Given the description of an element on the screen output the (x, y) to click on. 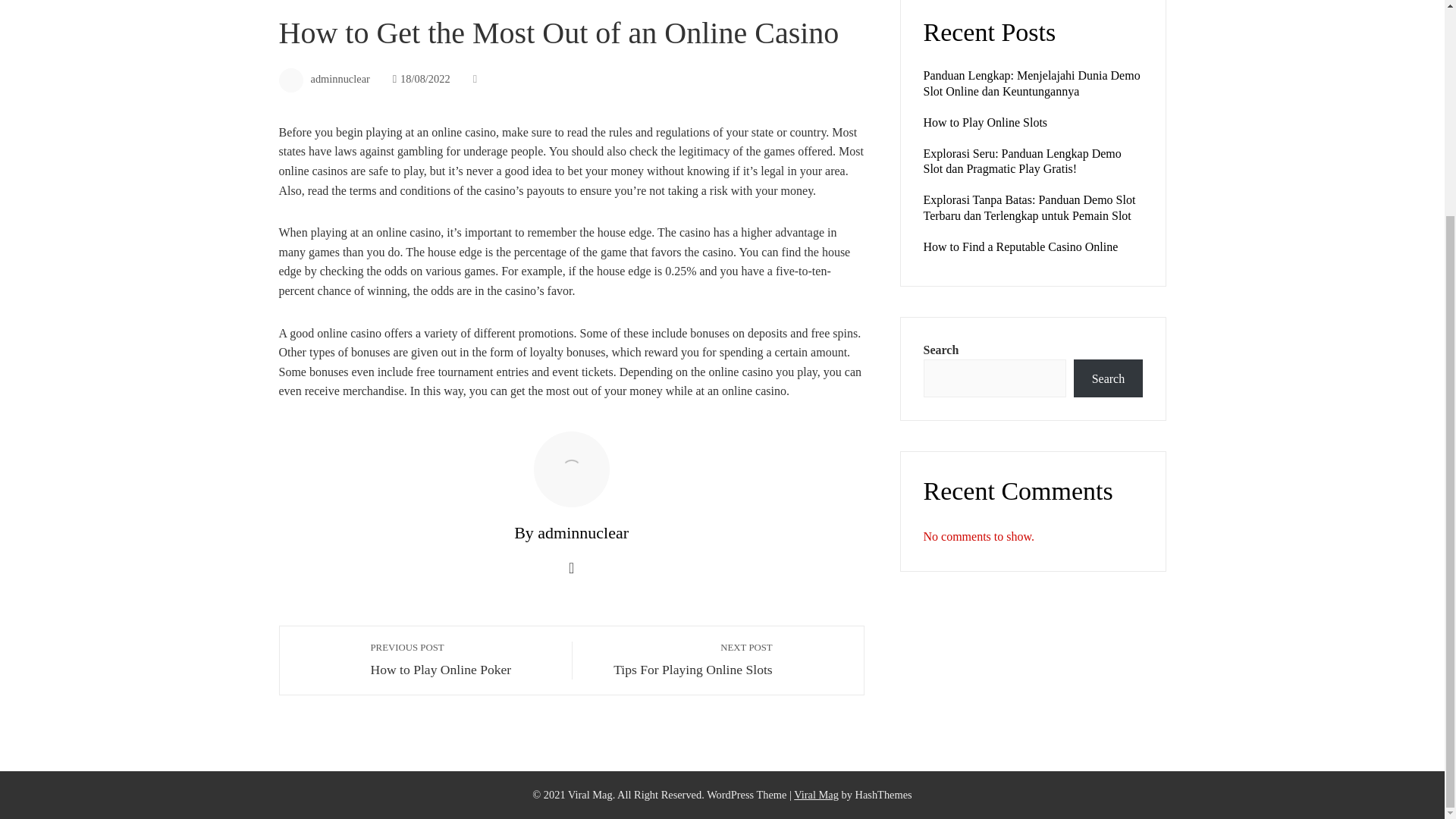
How to Play Online Slots (985, 122)
Download Viral News (815, 794)
GAMBLING (305, 1)
How to Find a Reputable Casino Online (462, 659)
Search (1020, 246)
Viral Mag (1107, 378)
